Given the description of an element on the screen output the (x, y) to click on. 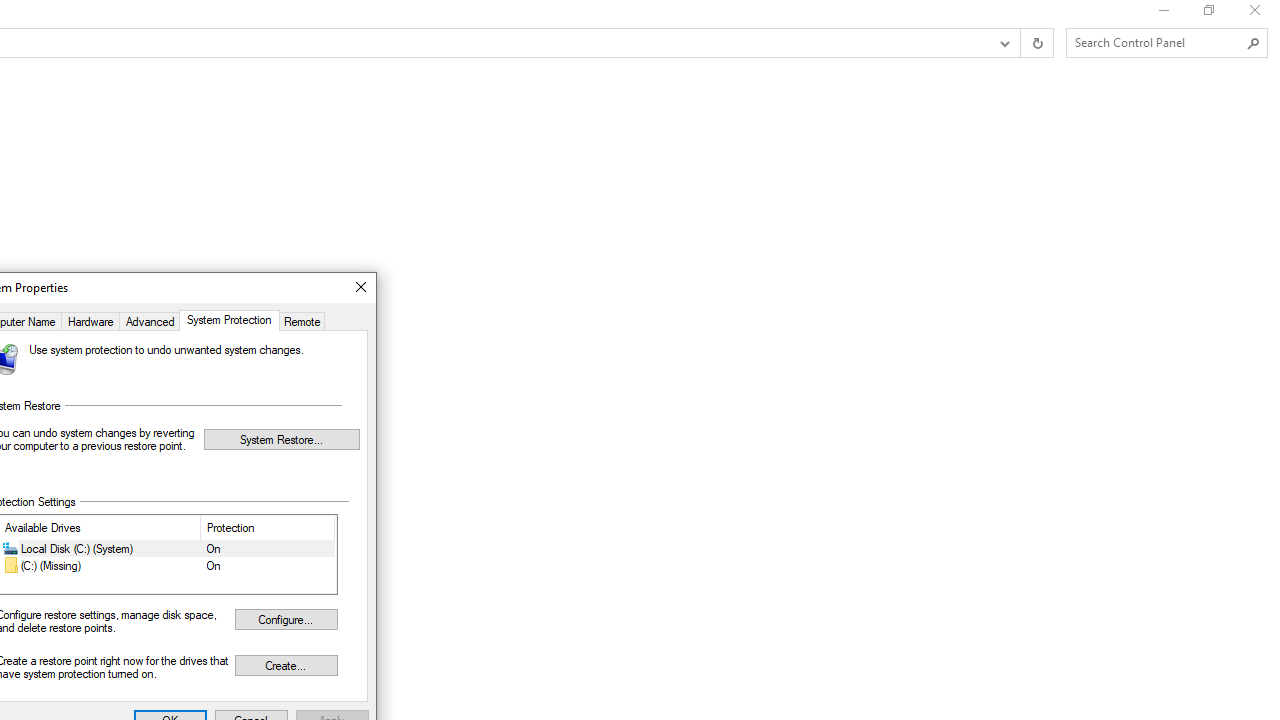
System Restore... (281, 438)
Hardware (90, 320)
Configure... (286, 618)
System Protection (228, 320)
Remote (301, 320)
Close (360, 287)
Advanced (150, 320)
Create... (286, 664)
